Given the description of an element on the screen output the (x, y) to click on. 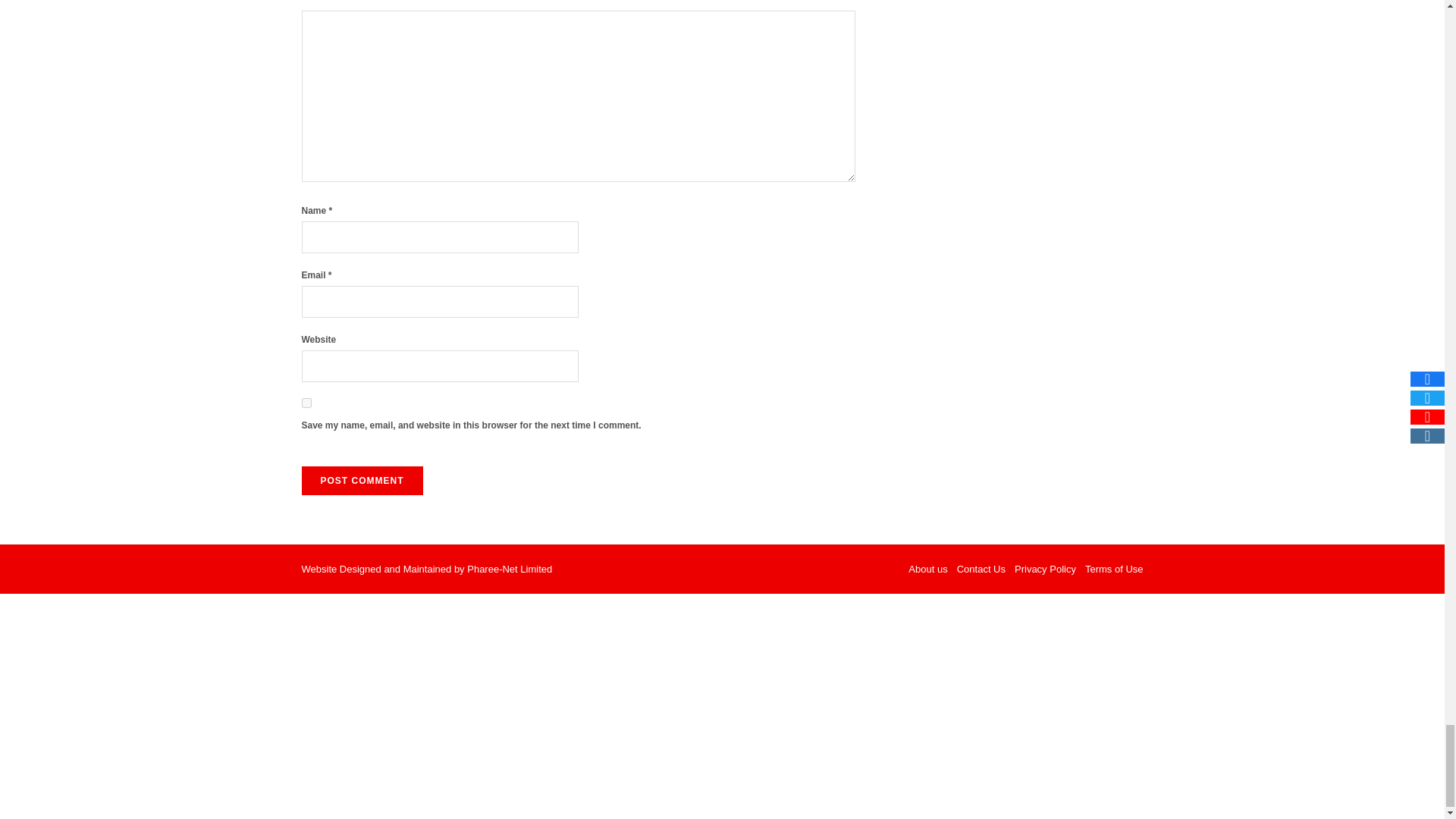
yes (306, 402)
Post Comment (362, 480)
